Given the description of an element on the screen output the (x, y) to click on. 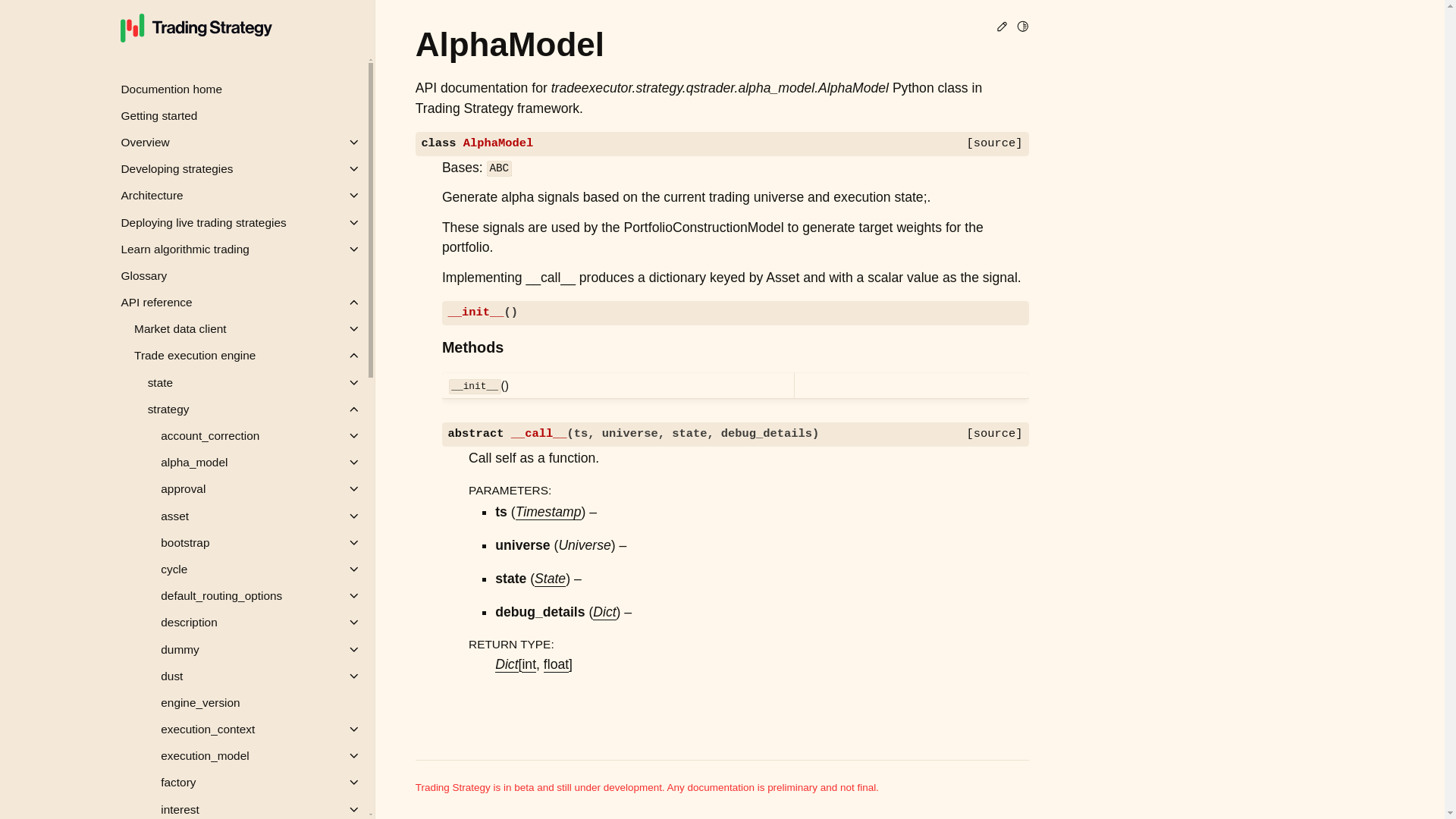
Getting started (236, 115)
tradeexecutor.state.state.State (550, 578)
Edit this page (1002, 28)
Developing strategies (236, 168)
Overview (236, 141)
Documention home (236, 89)
